Given the description of an element on the screen output the (x, y) to click on. 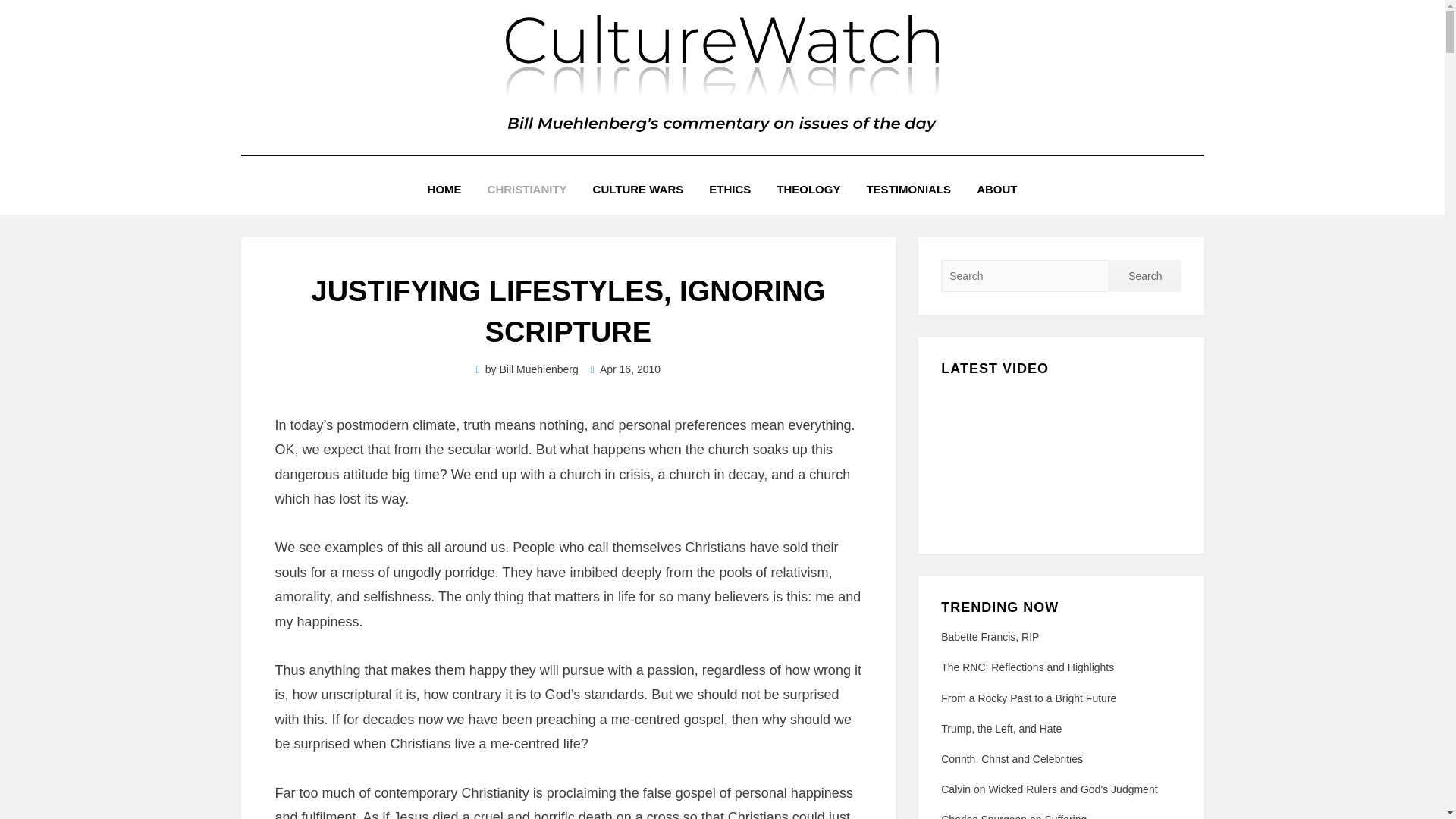
CULTURE WARS (638, 189)
CHRISTIANITY (526, 189)
TESTIMONIALS (908, 189)
THEOLOGY (807, 189)
Apr 16, 2010 (626, 369)
ABOUT (996, 189)
HOME (444, 189)
ETHICS (728, 189)
Bill Muehlenberg (538, 369)
